Given the description of an element on the screen output the (x, y) to click on. 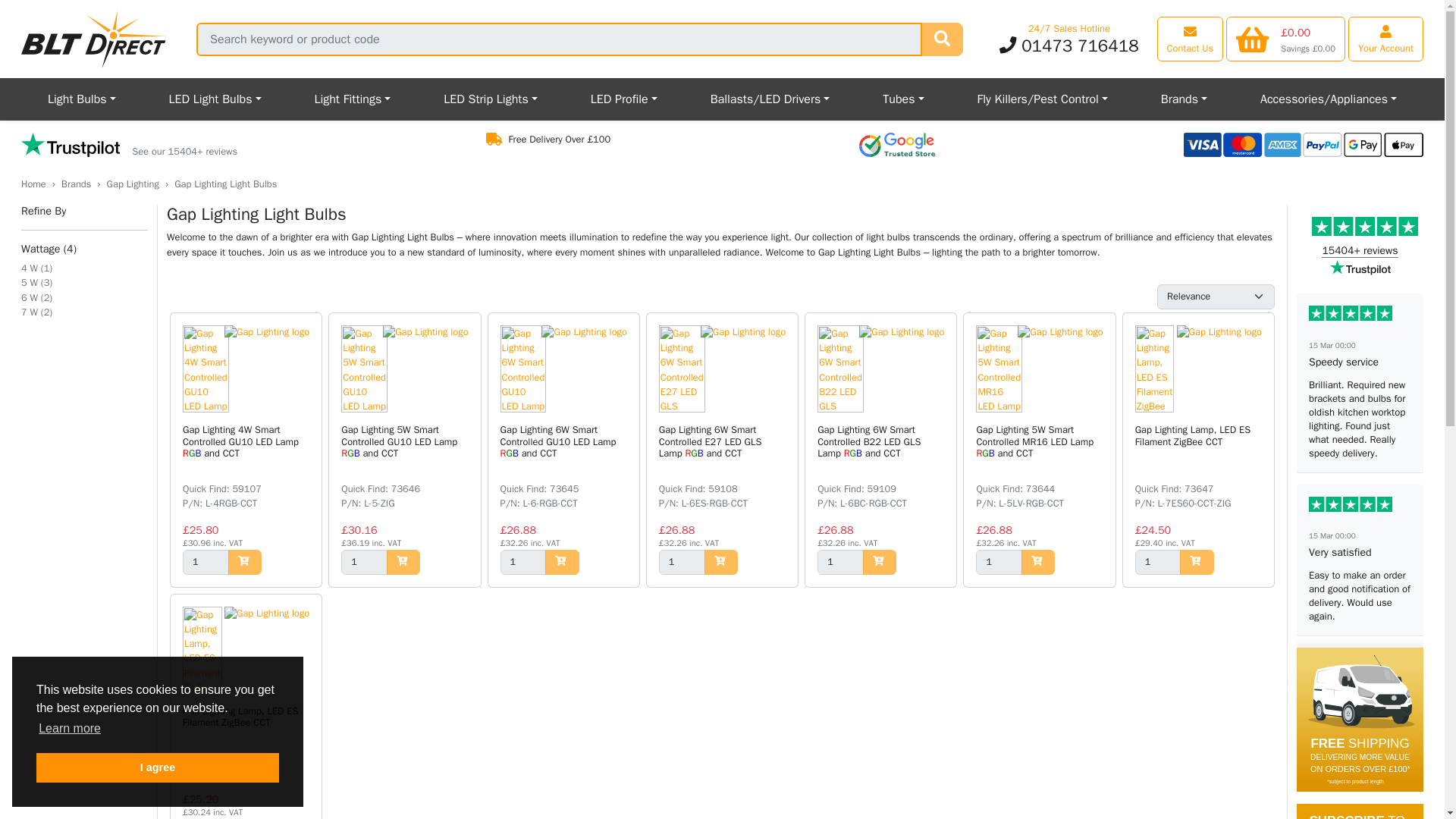
LED Light Bulbs (215, 99)
Light Bulbs, Lamps and Tubes Direct (94, 38)
LED Profile (624, 99)
1 (205, 561)
Tubes (903, 99)
1 (681, 561)
1 (1157, 561)
Light Bulbs (81, 99)
LED Light Bulbs (215, 99)
Your Account (1385, 38)
Brands (1183, 99)
Light Fittings (351, 99)
1 (839, 561)
Home (33, 184)
Light Fittings (351, 99)
